Given the description of an element on the screen output the (x, y) to click on. 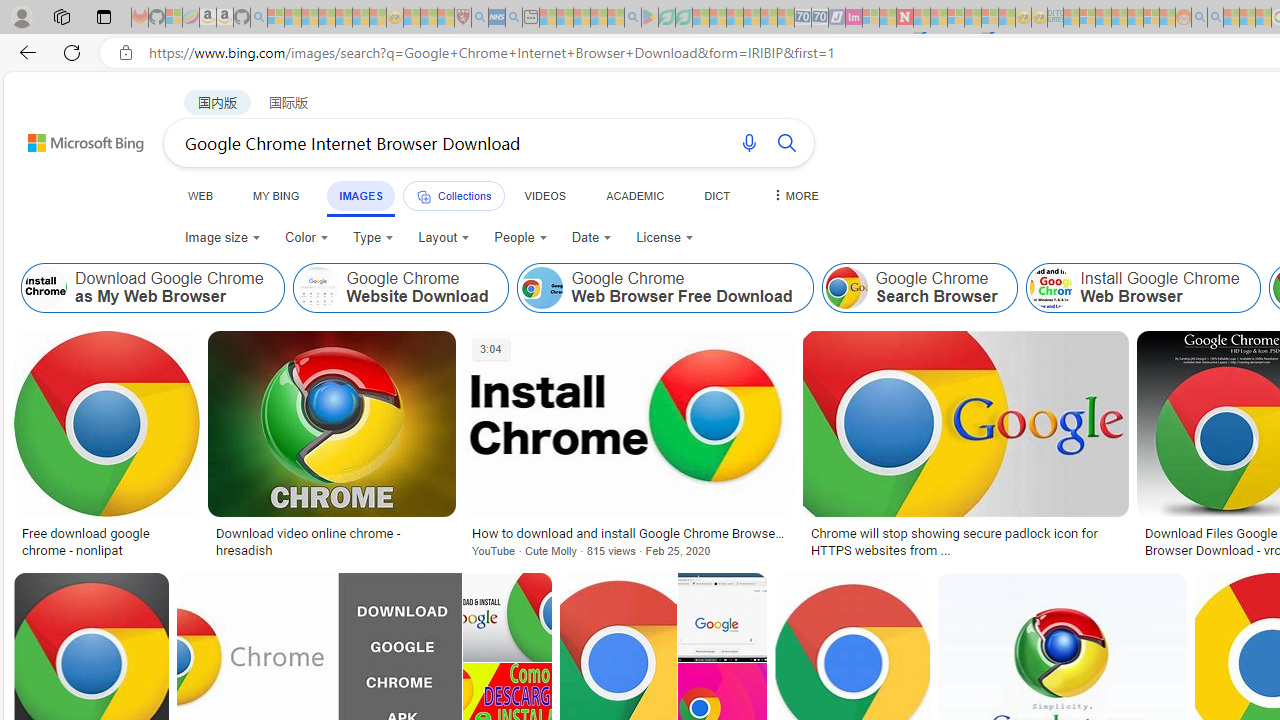
Date (591, 237)
